Given the description of an element on the screen output the (x, y) to click on. 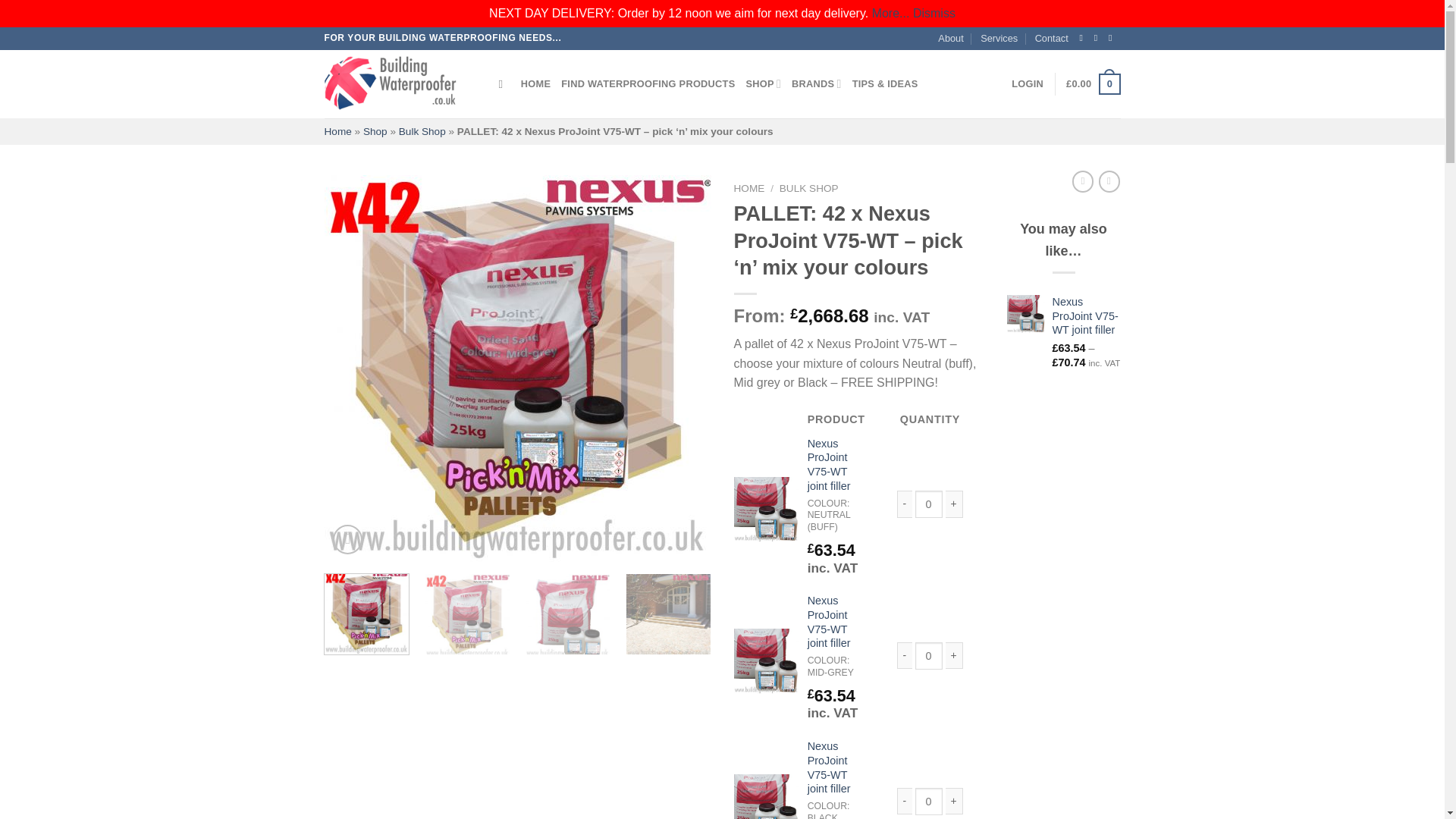
Dismiss (933, 12)
Zoom (347, 539)
nexus-projoint-resin-jointing-paving (766, 509)
More... (891, 12)
BRANDS (816, 83)
Basket (1092, 84)
FIND WATERPROOFING PRODUCTS (647, 83)
Contact (1051, 38)
HOME (535, 83)
SHOP (762, 83)
Services (998, 38)
nexus-projoint-resin-jointing-paving (766, 660)
About (949, 38)
